Given the description of an element on the screen output the (x, y) to click on. 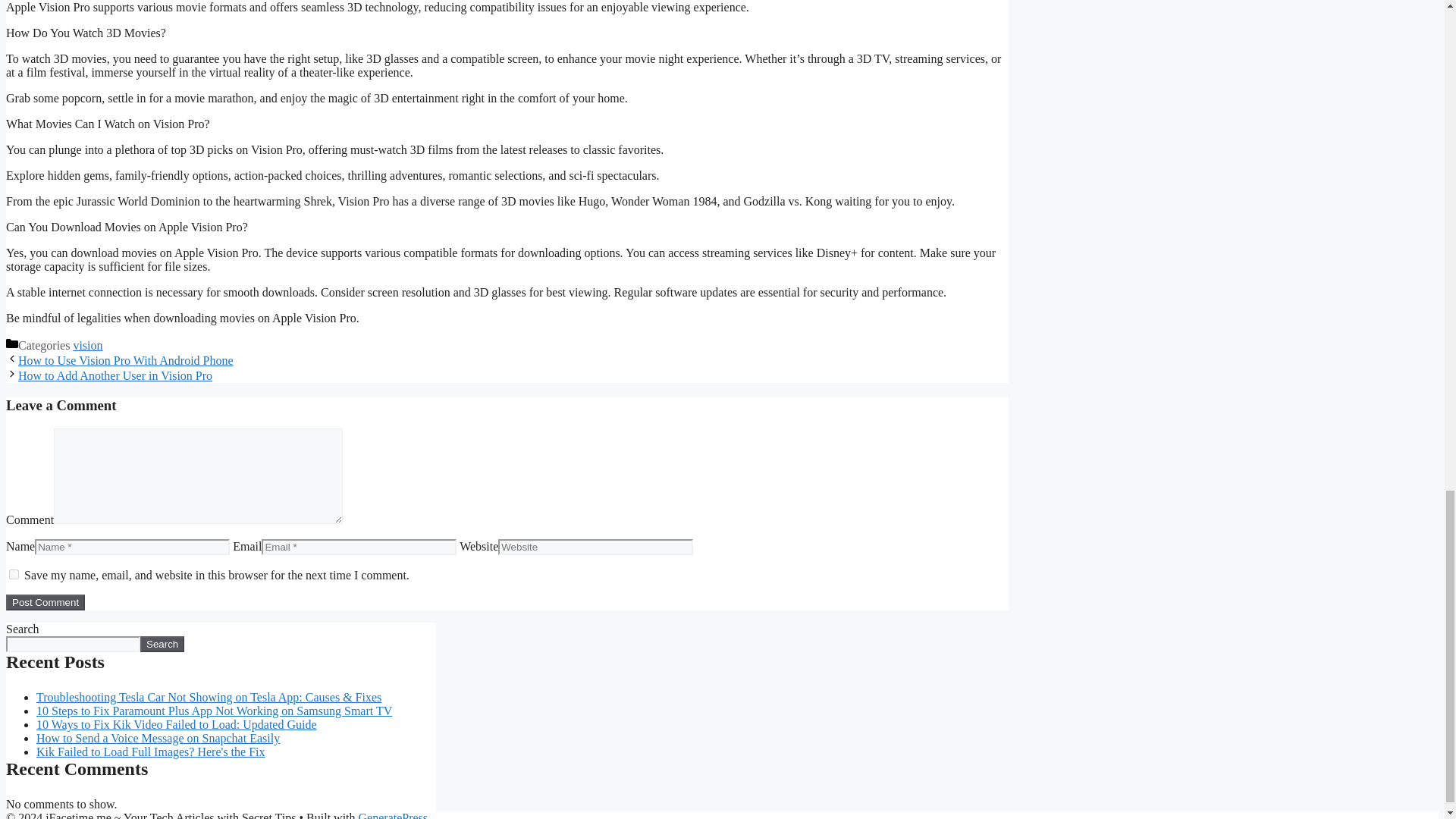
How to Use Vision Pro With Android Phone (124, 359)
vision (86, 345)
yes (13, 574)
Post Comment (44, 602)
Post Comment (44, 602)
10 Ways to Fix Kik Video Failed to Load: Updated Guide (176, 724)
How to Add Another User in Vision Pro (114, 375)
Kik Failed to Load Full Images? Here's the Fix (150, 751)
Search (161, 643)
